Given the description of an element on the screen output the (x, y) to click on. 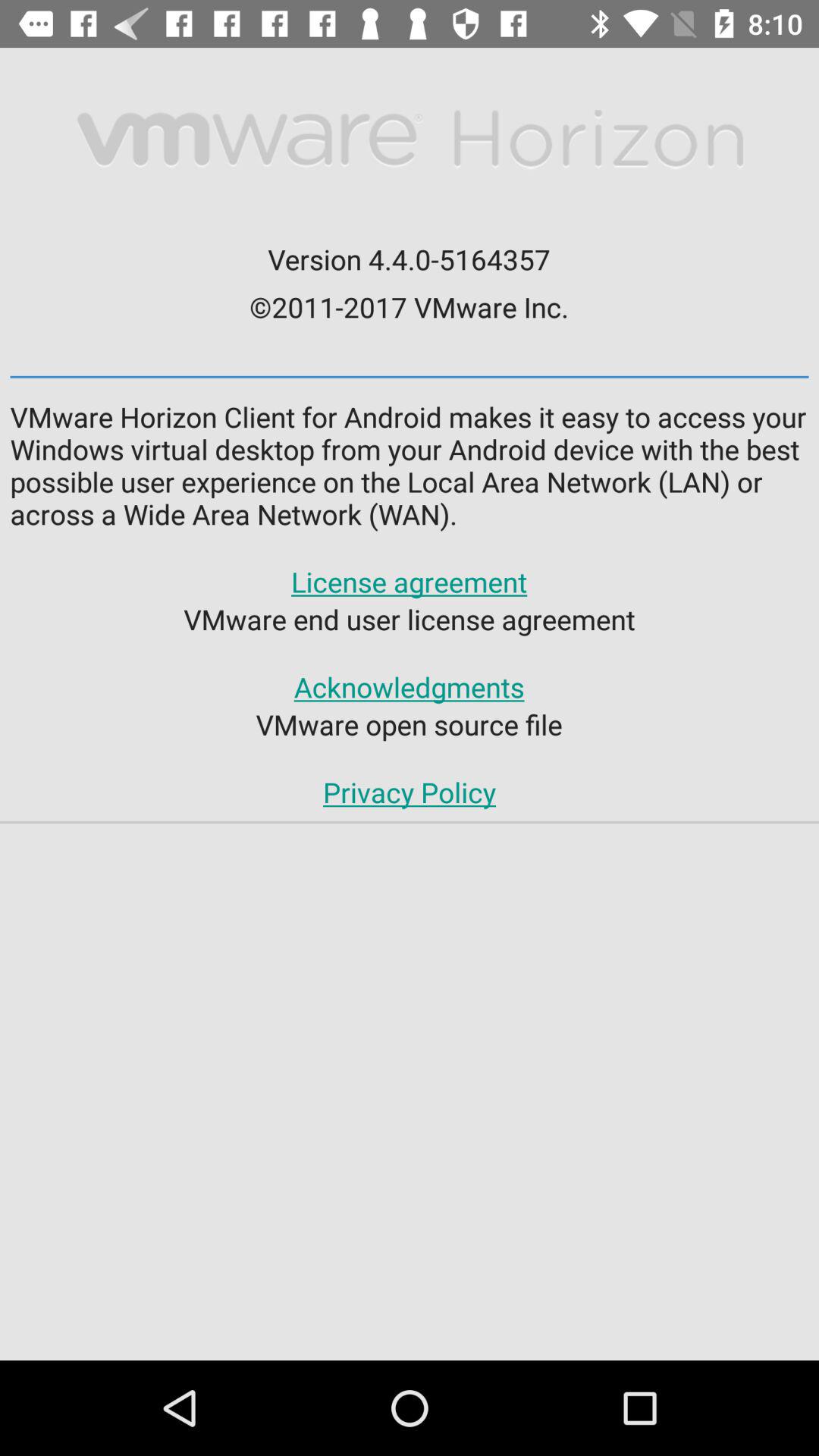
launch icon below the 2011 2017 vmware app (409, 376)
